Given the description of an element on the screen output the (x, y) to click on. 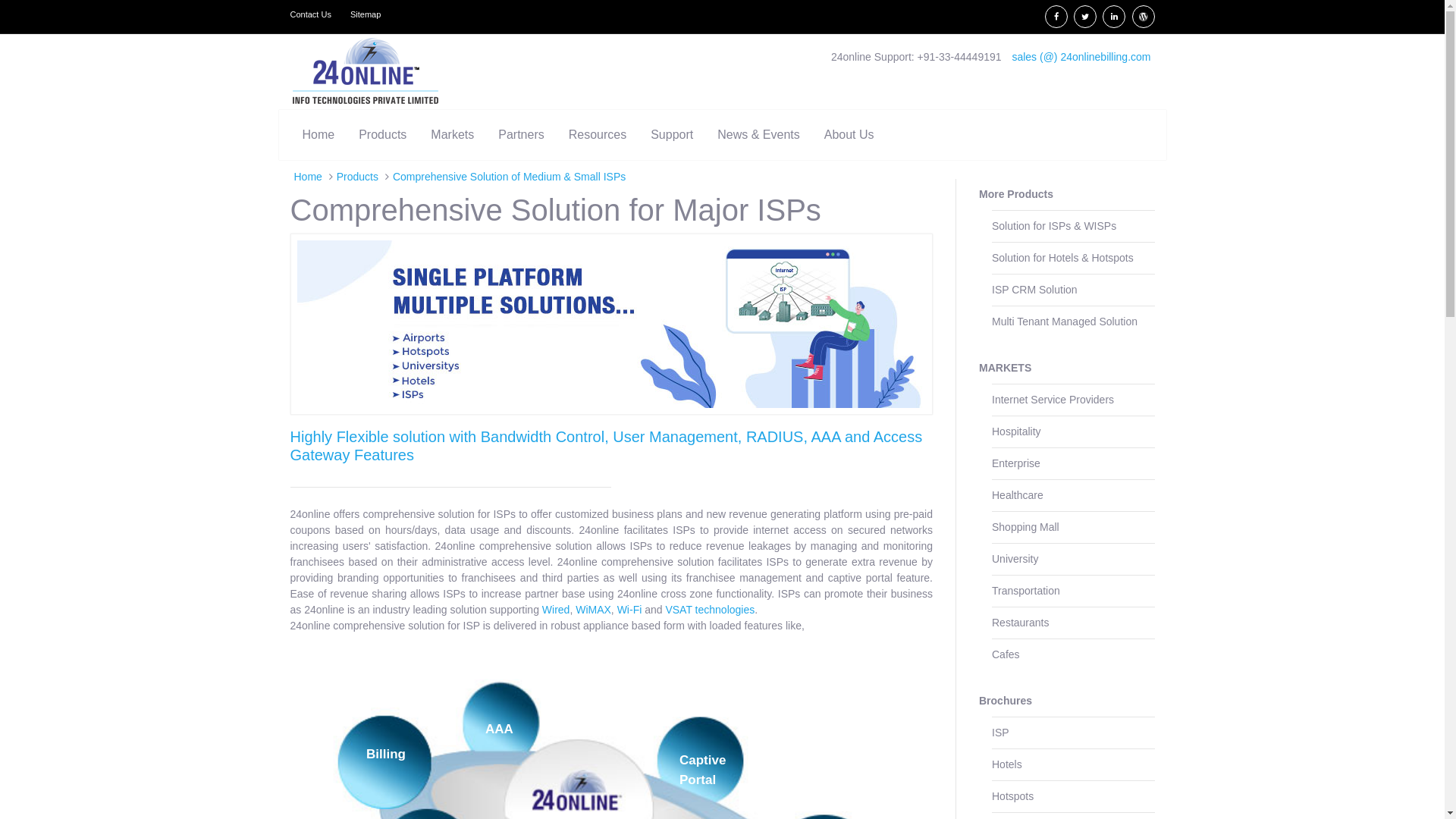
Sitemap Element type: text (365, 15)
ISP CRM Solution Element type: text (1072, 289)
Healthcare Element type: text (1072, 495)
Support Element type: text (671, 134)
More Products Element type: text (1066, 194)
Hospitality Element type: text (1072, 431)
VSAT technologies Element type: text (709, 609)
Shopping Mall Element type: text (1072, 526)
24online Billing Element type: hover (365, 71)
Comprehensive Solution of Medium & Small ISPs Element type: text (508, 176)
Enterprise Element type: text (1072, 463)
Partners Element type: text (520, 134)
Hotels Element type: text (1072, 764)
AAA Element type: text (499, 728)
MARKETS Element type: text (1066, 367)
Solution for Hotels & Hotspots Element type: text (1072, 257)
Captive
Portal Element type: text (702, 770)
Restaurants Element type: text (1072, 622)
Products Element type: text (382, 134)
Products Element type: text (357, 176)
Home Element type: text (317, 134)
ISP Element type: text (1072, 732)
Internet Service Providers Element type: text (1072, 399)
Transportation Element type: text (1072, 590)
Contact Us Element type: text (313, 15)
sales (@) 24onlinebilling.com Element type: text (1080, 56)
University Element type: text (1072, 558)
About Us Element type: text (849, 134)
Cafes Element type: text (1072, 654)
WiMAX Element type: text (593, 609)
Hotspots Element type: text (1072, 796)
Resources Element type: text (597, 134)
Billing Element type: text (385, 753)
Wired Element type: text (556, 609)
Wi-Fi Element type: text (629, 609)
News & Events Element type: text (758, 134)
Solution for ISPs & WISPs Element type: text (1072, 225)
Markets Element type: text (452, 134)
Home Element type: text (308, 176)
Brochures Element type: text (1066, 700)
Multi Tenant Managed Solution Element type: text (1072, 321)
